Given the description of an element on the screen output the (x, y) to click on. 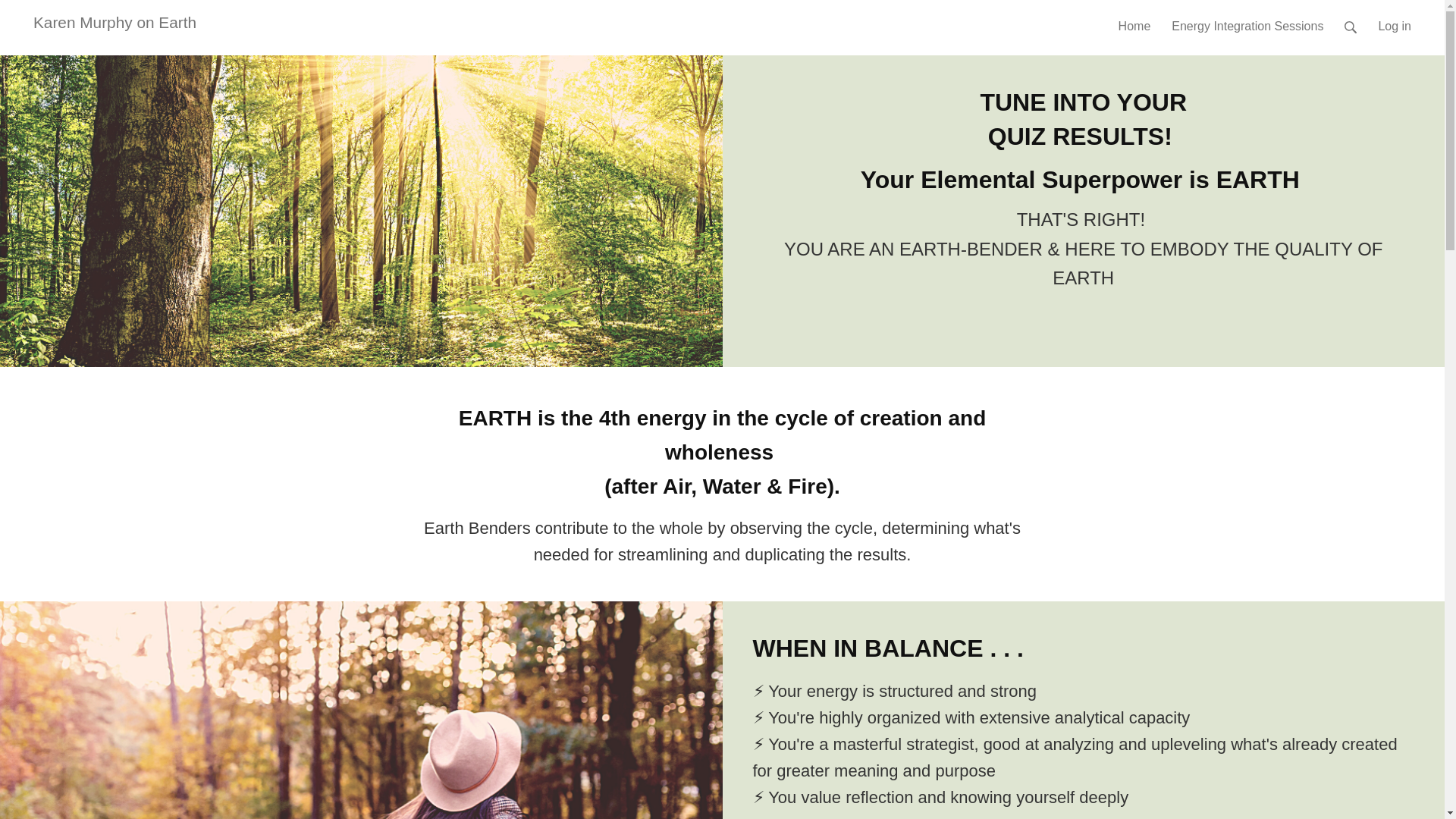
Log in (1394, 20)
Energy Integration Sessions (1246, 20)
Karen Murphy on Earth (114, 22)
Home (1134, 20)
